Given the description of an element on the screen output the (x, y) to click on. 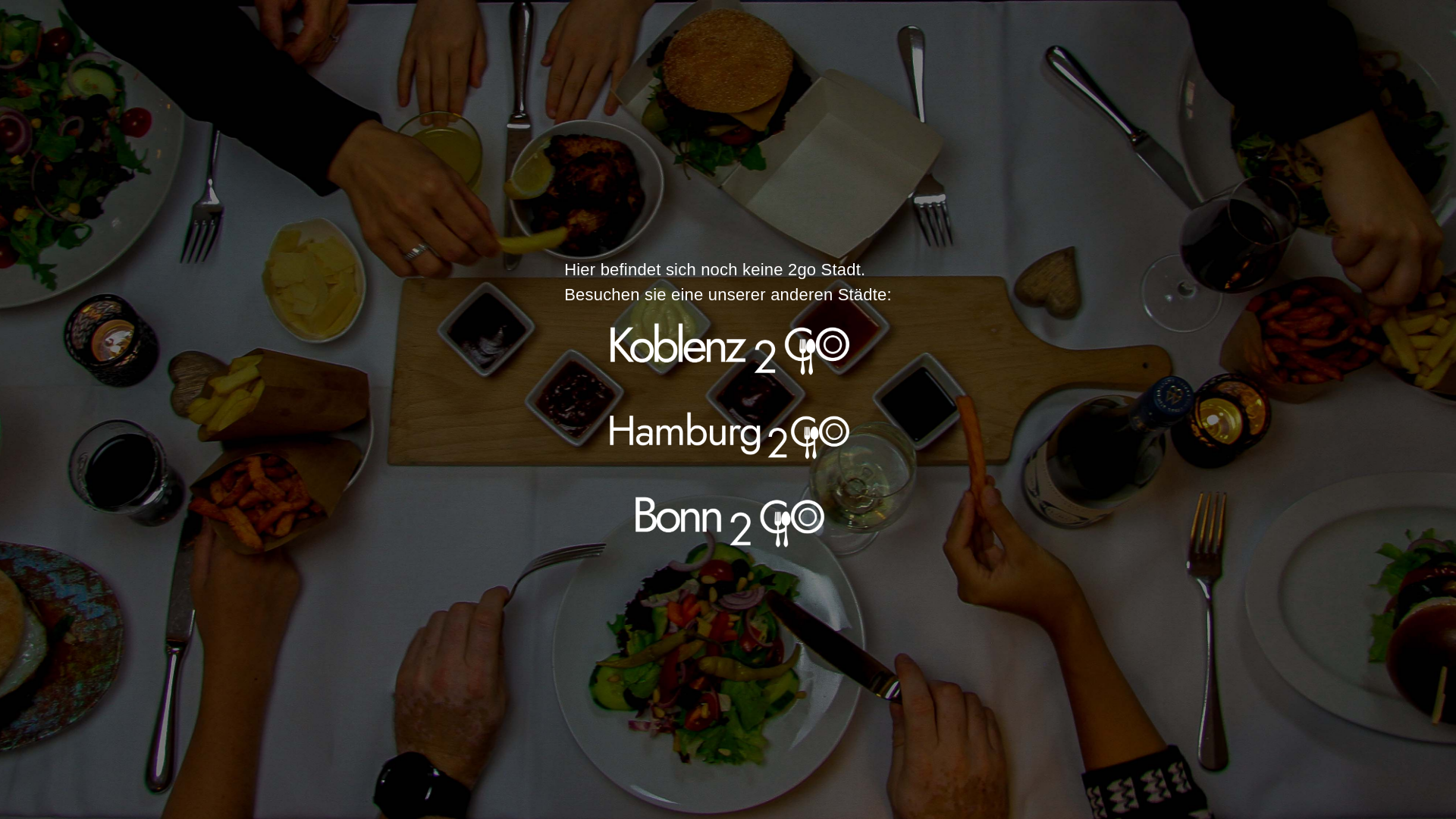
Hamburg2go Element type: hover (727, 434)
Koblenz2go Element type: hover (727, 349)
Bonn2go Element type: hover (727, 519)
